Given the description of an element on the screen output the (x, y) to click on. 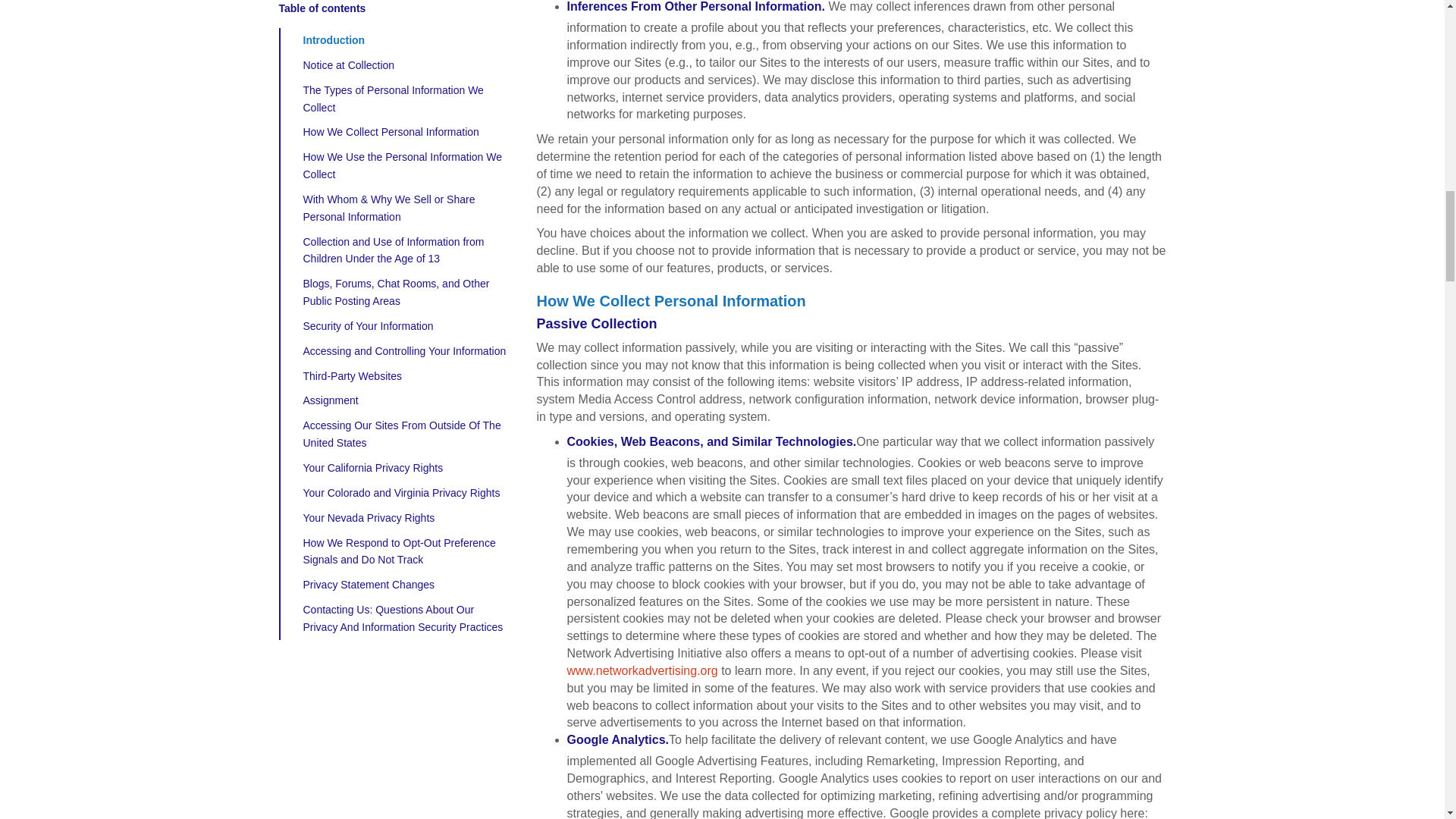
www.networkadvertising.org (642, 670)
